Given the description of an element on the screen output the (x, y) to click on. 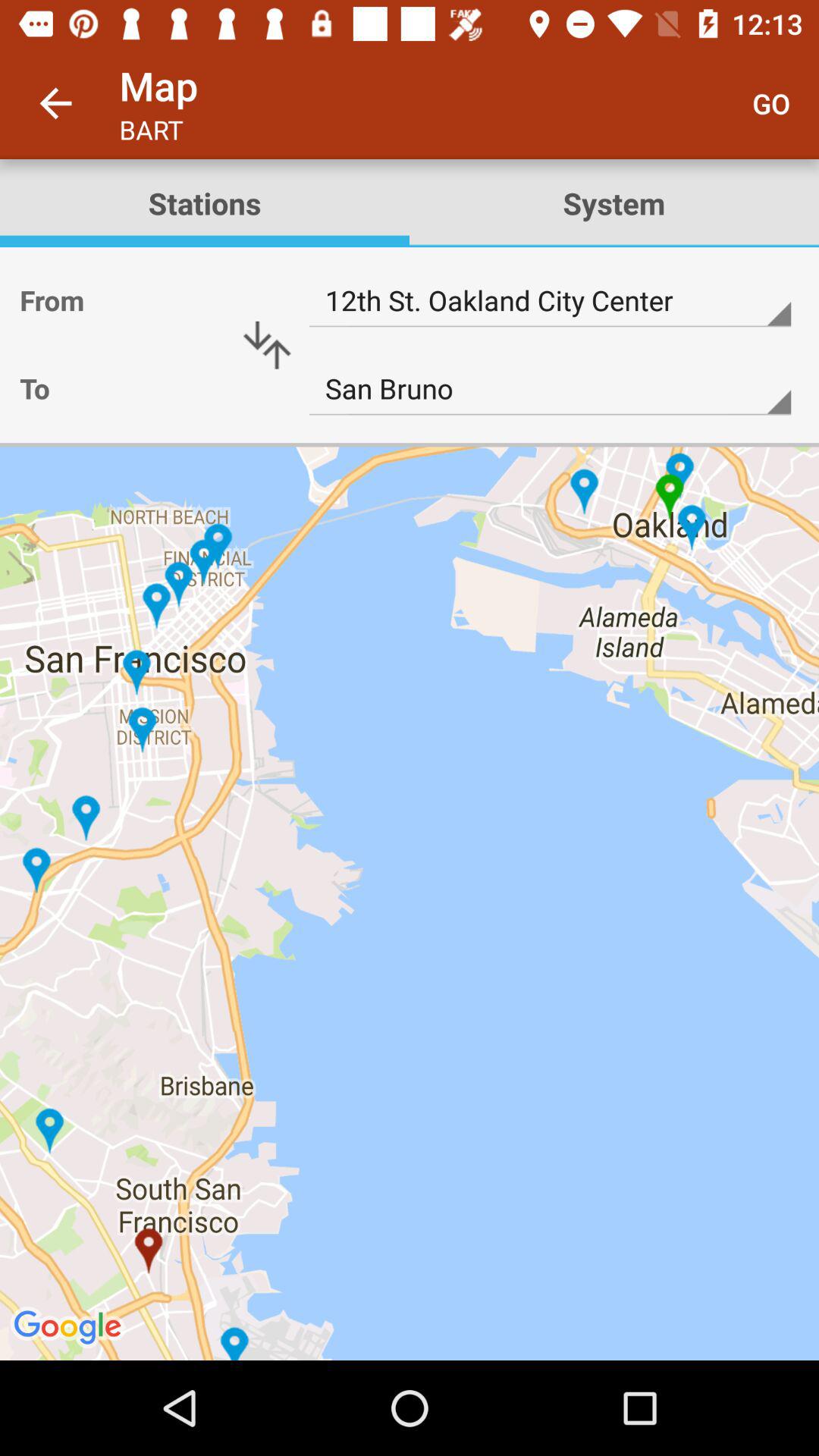
switch from and to location (267, 345)
